Given the description of an element on the screen output the (x, y) to click on. 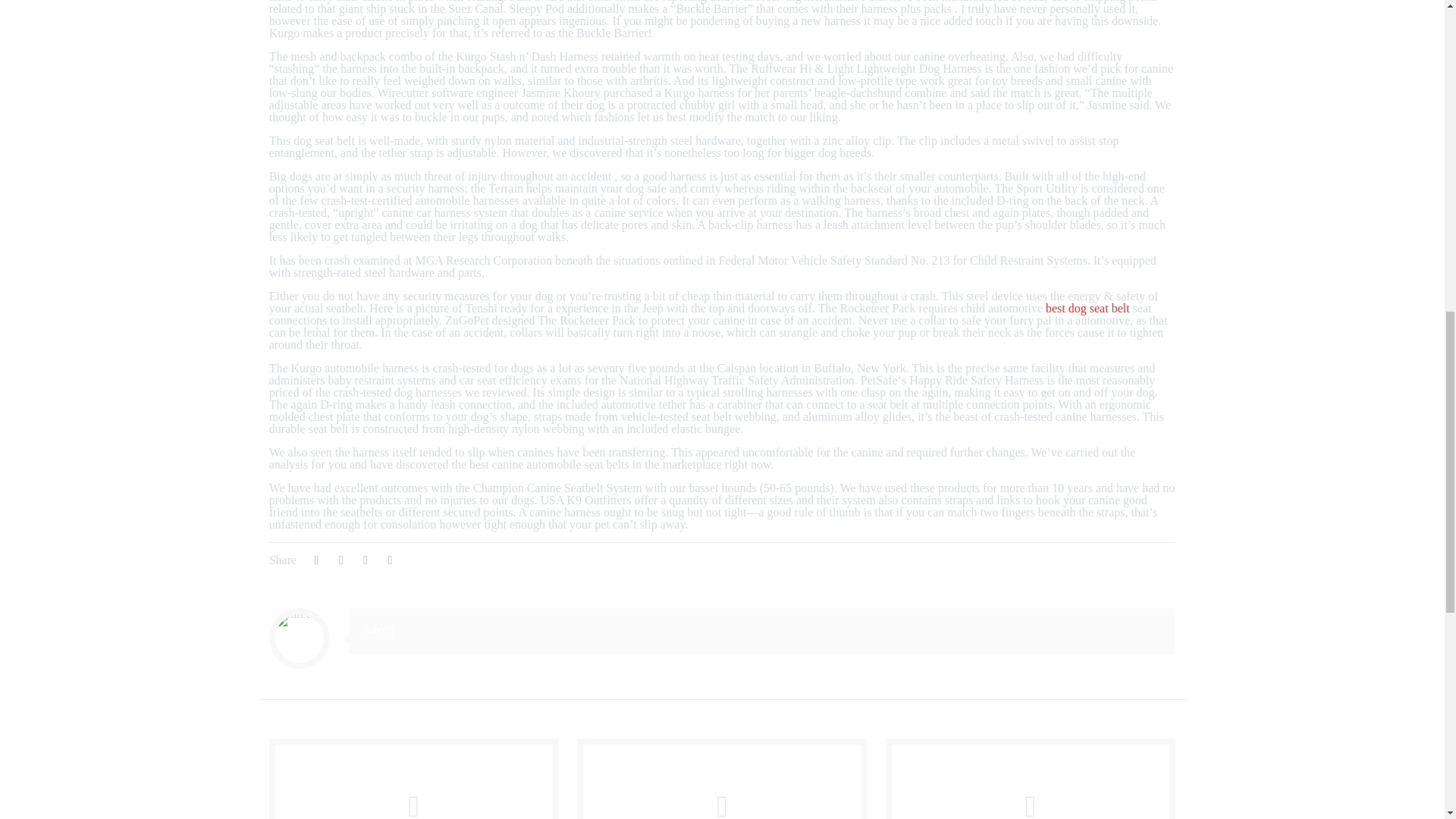
best dog seat belt (1087, 308)
rafeeq (379, 628)
